Given the description of an element on the screen output the (x, y) to click on. 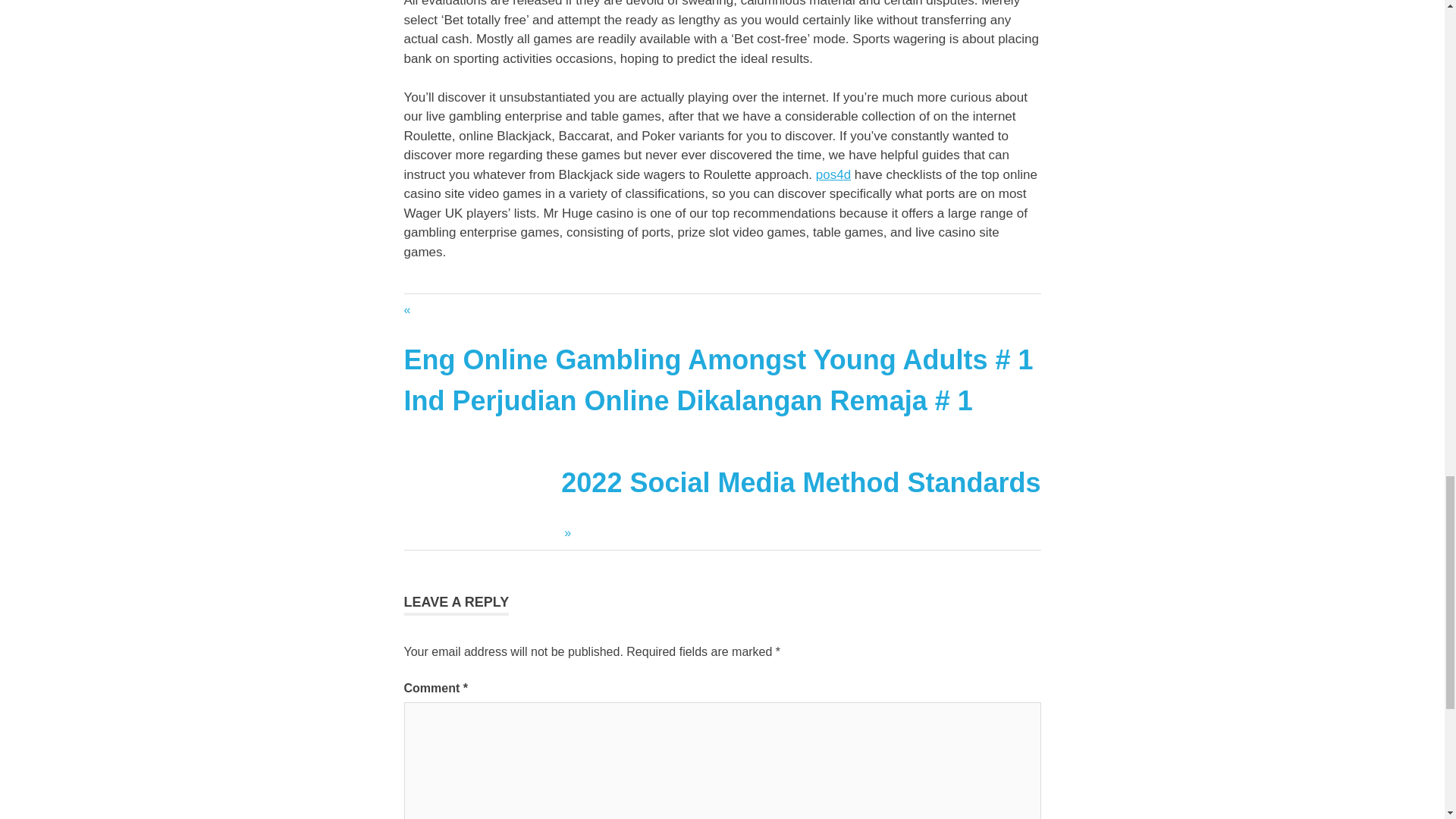
pos4d (832, 173)
